Given the description of an element on the screen output the (x, y) to click on. 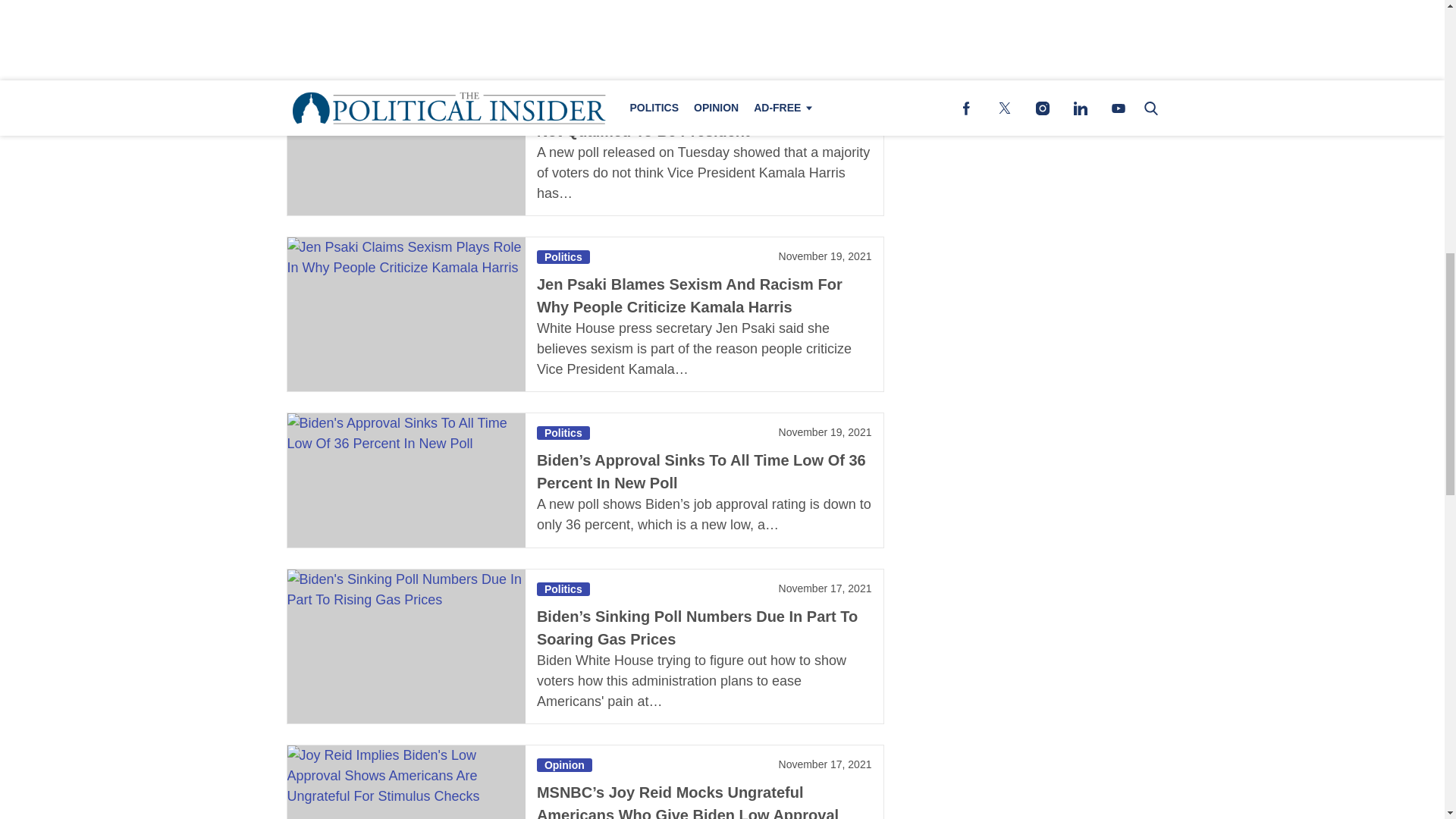
Politics (563, 256)
Politics (563, 80)
Politics (563, 432)
Politics (563, 589)
